Given the description of an element on the screen output the (x, y) to click on. 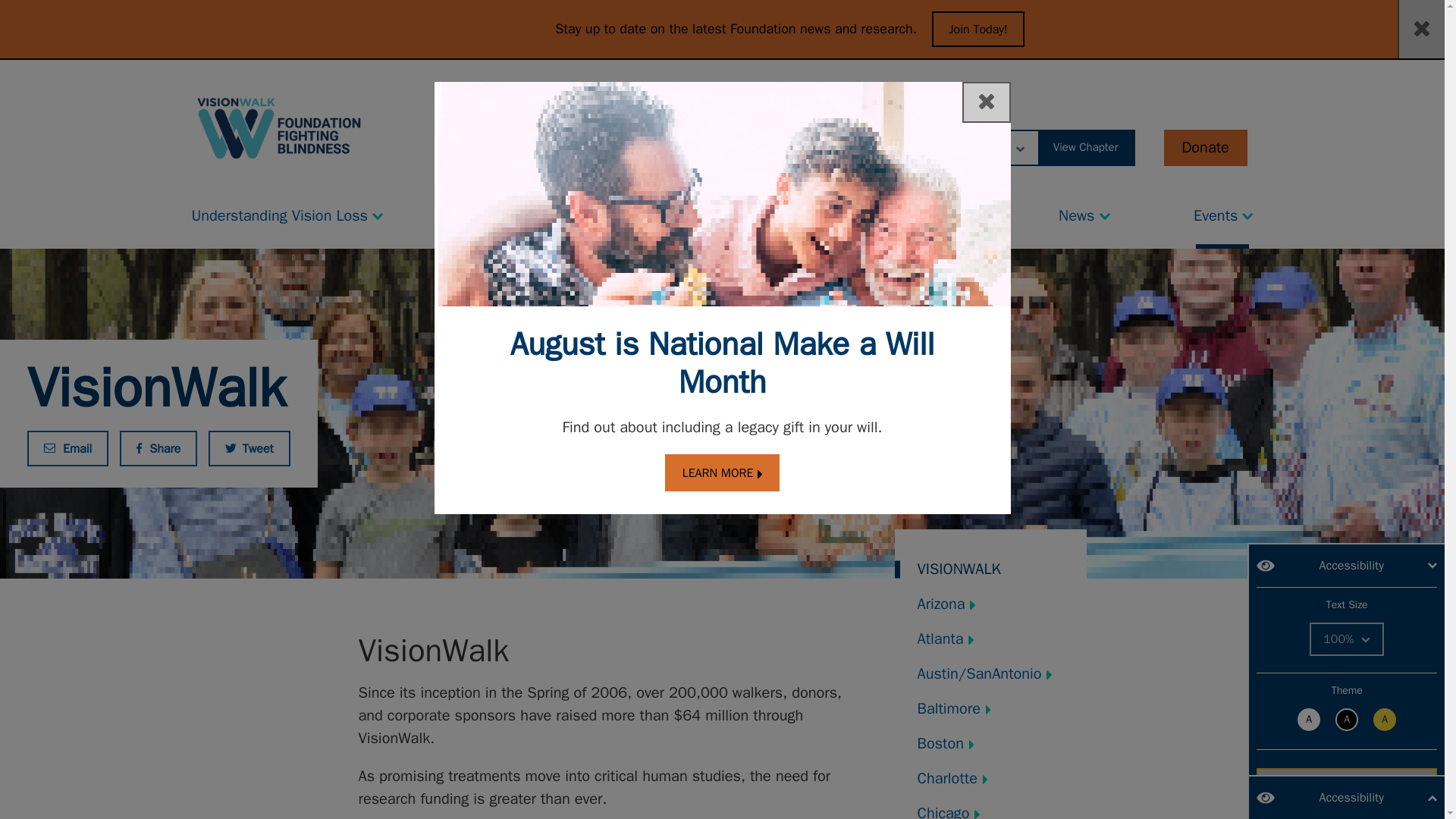
View Chapter (1086, 147)
Understanding Vision Loss (286, 211)
Search (811, 147)
Close (985, 101)
Living With Vision Loss (550, 211)
Join Today! (978, 28)
Research (755, 211)
LEARN MORE (722, 472)
Donate (1204, 147)
